Given the description of an element on the screen output the (x, y) to click on. 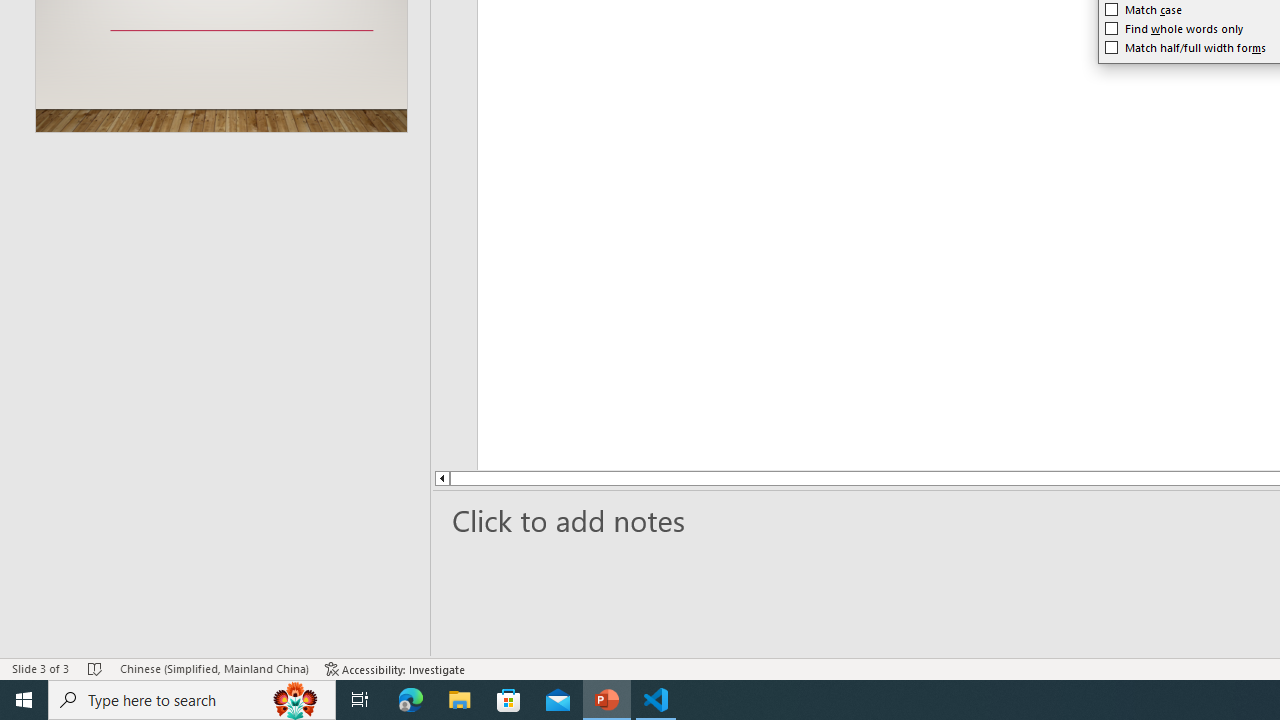
Find whole words only (1174, 28)
